Given the description of an element on the screen output the (x, y) to click on. 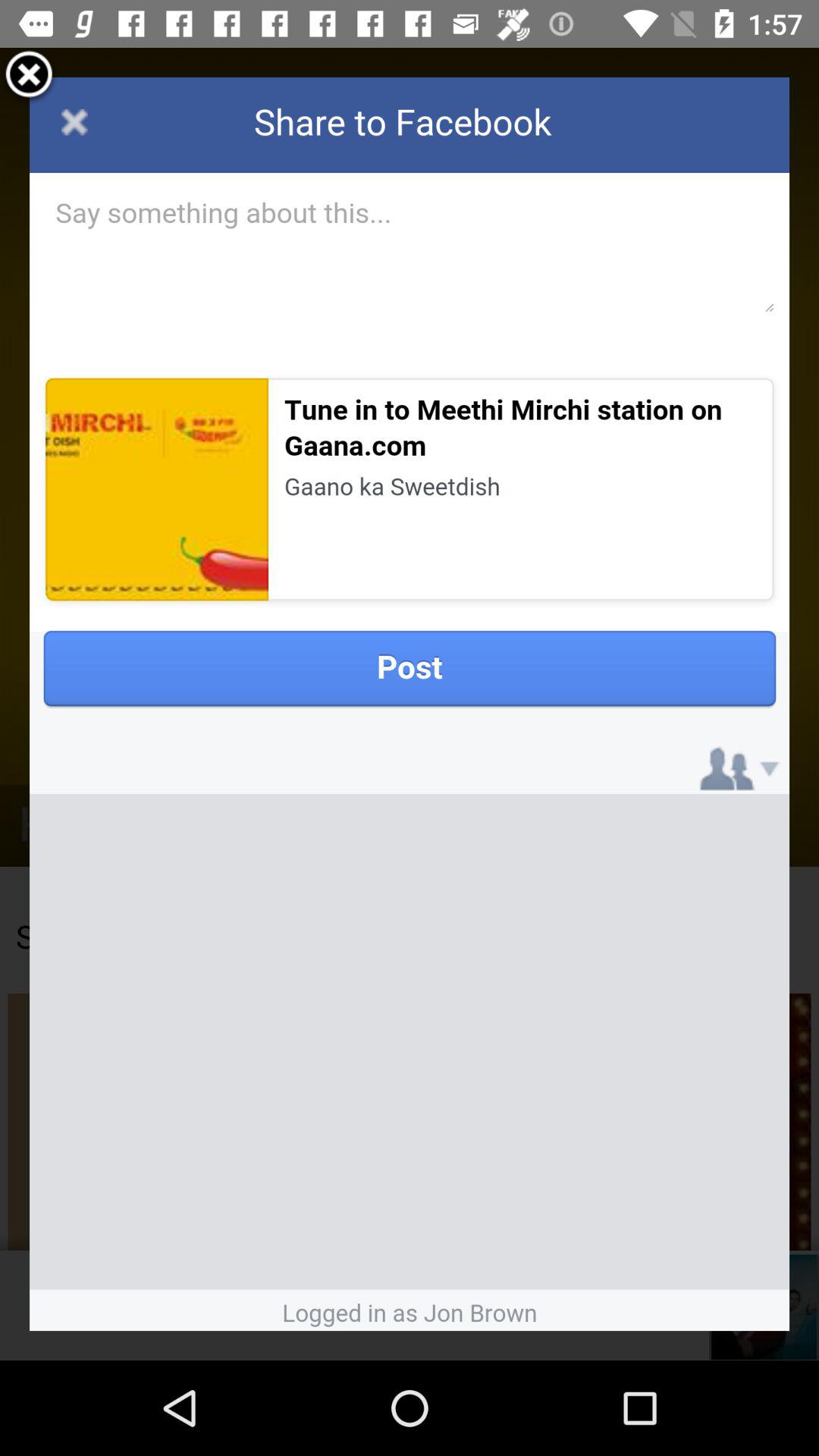
share to facebook post (409, 703)
